Given the description of an element on the screen output the (x, y) to click on. 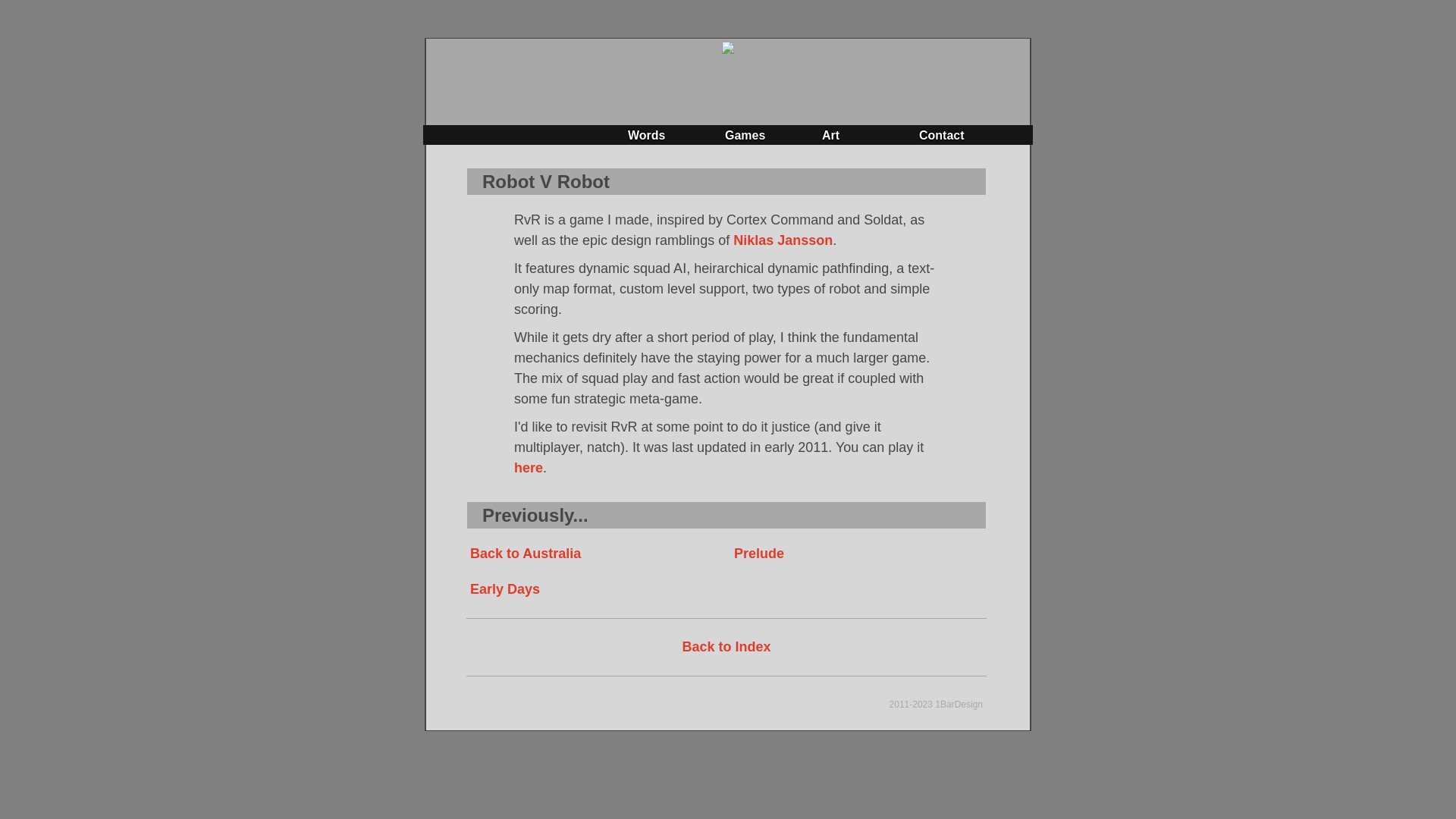
Back to Australia Element type: text (525, 553)
Words Element type: text (646, 134)
Early Days Element type: text (504, 588)
Back to Index Element type: text (725, 646)
Prelude Element type: text (759, 553)
Contact Element type: text (941, 134)
Games Element type: text (744, 134)
here Element type: text (528, 467)
Art Element type: text (830, 134)
Niklas Jansson Element type: text (782, 239)
